Given the description of an element on the screen output the (x, y) to click on. 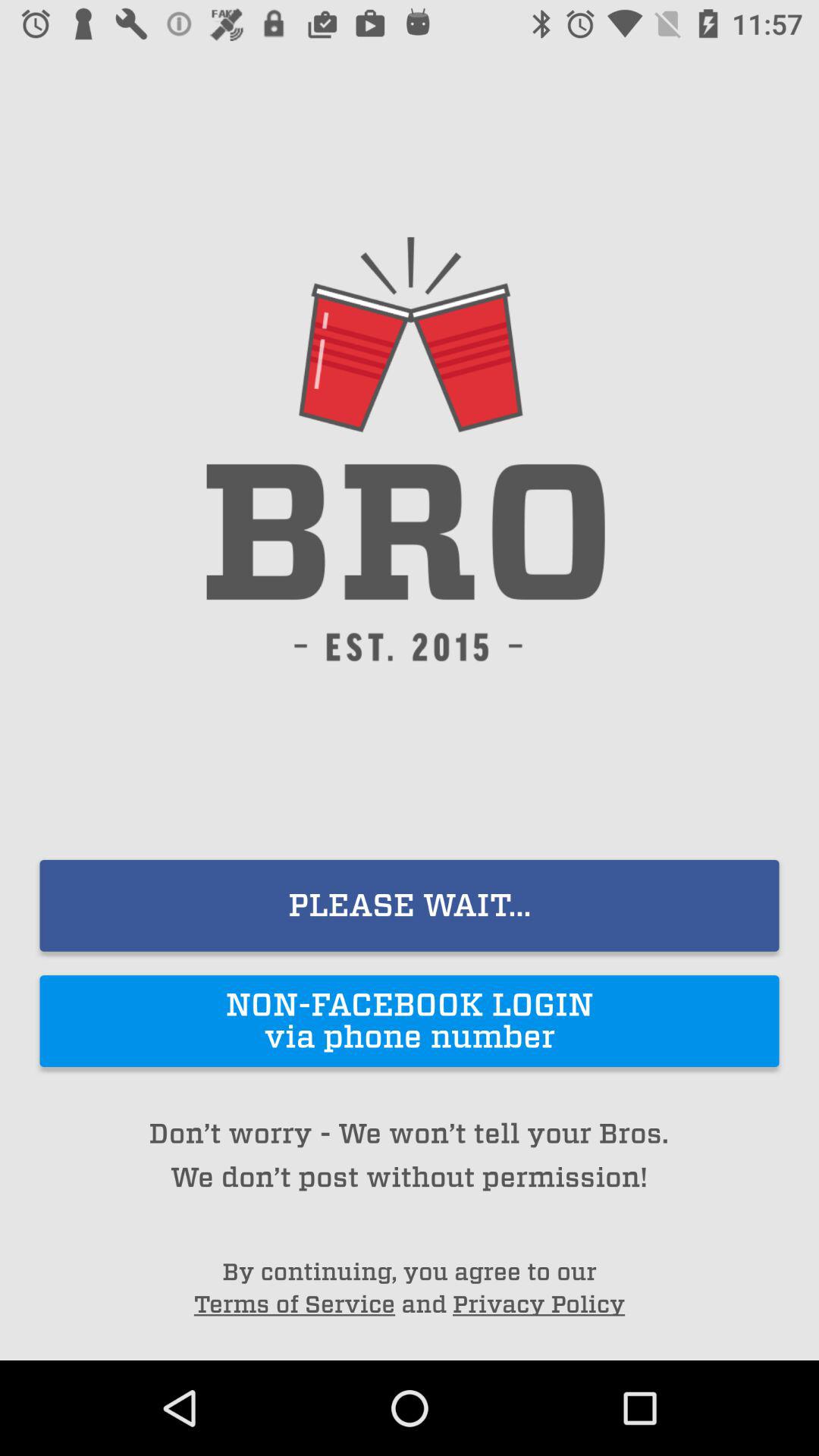
tap icon below by continuing you (538, 1304)
